Given the description of an element on the screen output the (x, y) to click on. 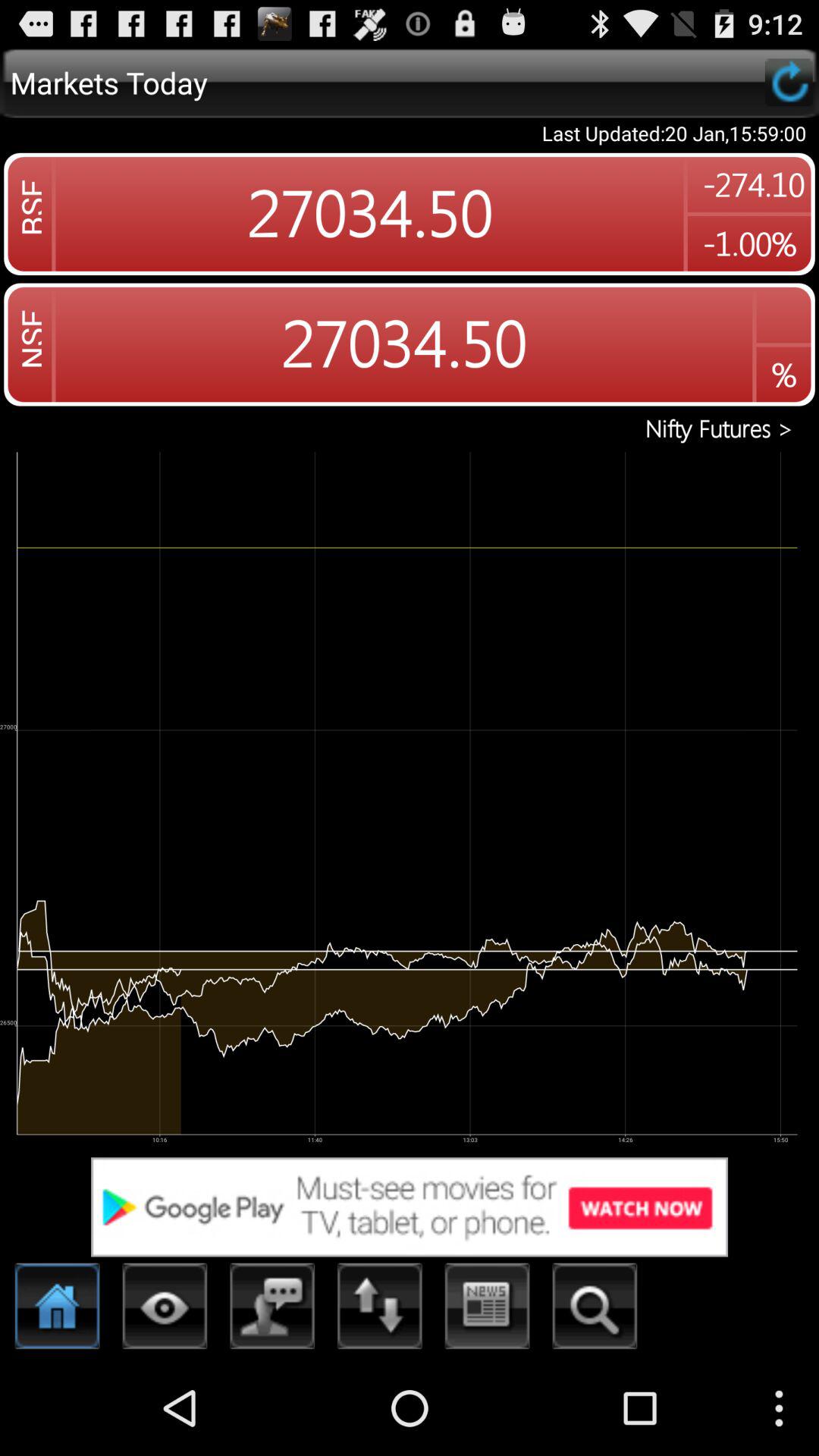
advertisement banner (409, 1206)
